Given the description of an element on the screen output the (x, y) to click on. 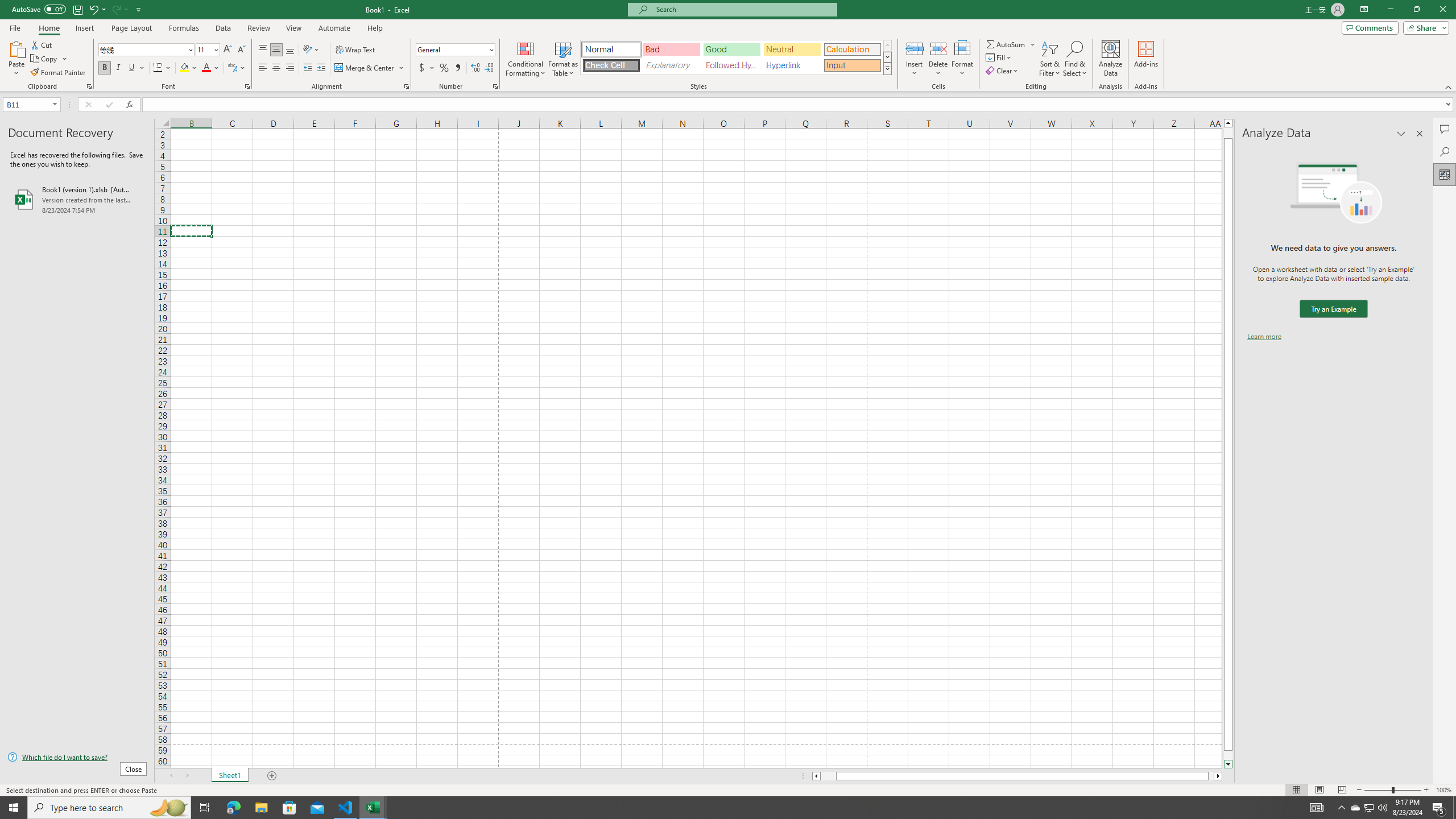
Orientation (311, 49)
Explanatory Text (671, 65)
Learn more (1264, 336)
Sort & Filter (1049, 58)
Center (276, 67)
Middle Align (276, 49)
Comma Style (457, 67)
Underline (136, 67)
Format as Table (563, 58)
